Given the description of an element on the screen output the (x, y) to click on. 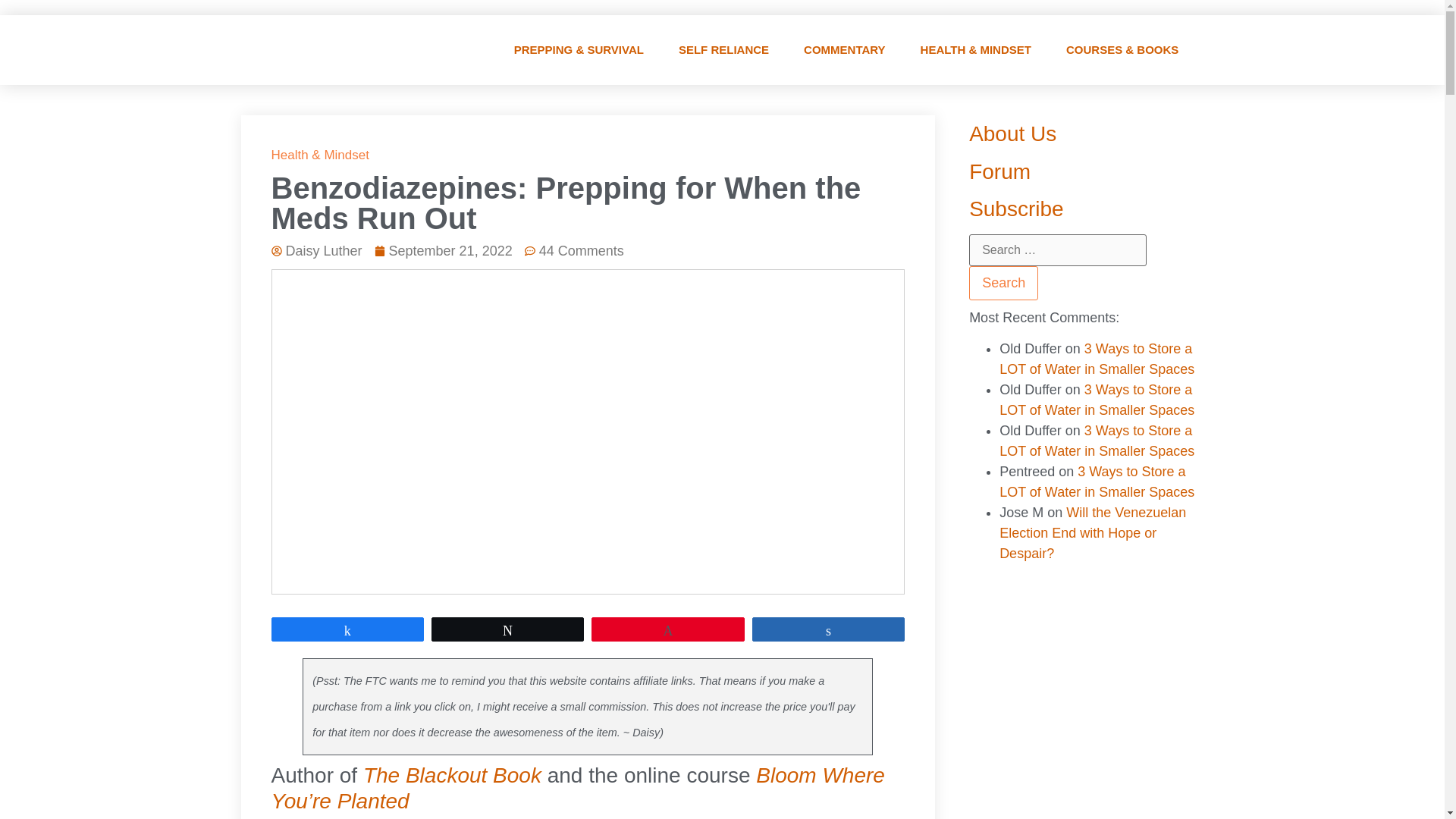
COMMENTARY (845, 50)
The Blackout Book (451, 775)
SELF RELIANCE (723, 50)
44 Comments (574, 250)
Search (1003, 283)
Daisy Luther (316, 250)
Search (1003, 283)
September 21, 2022 (443, 250)
